Given the description of an element on the screen output the (x, y) to click on. 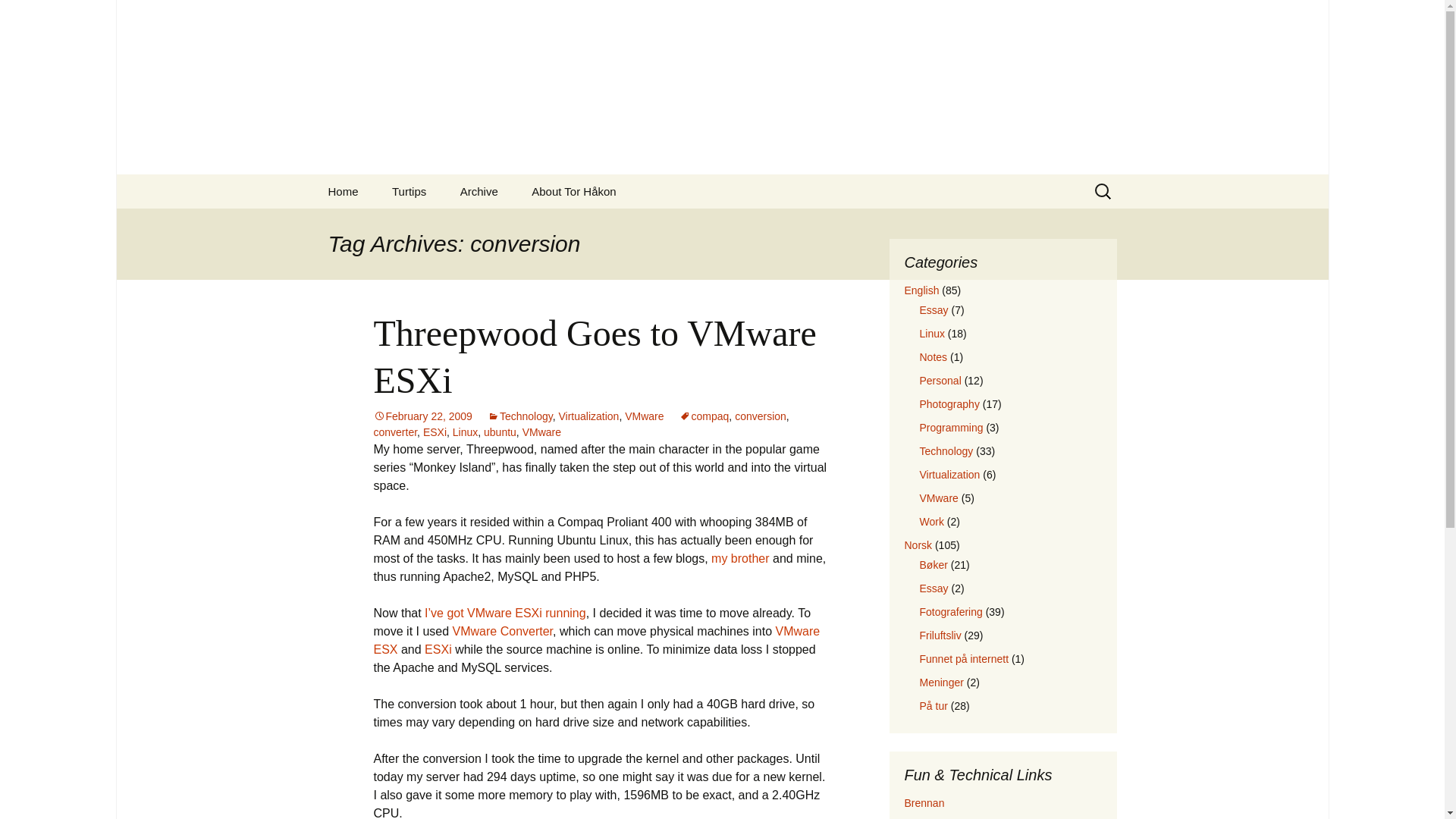
VMware (643, 416)
converter (394, 431)
Search (18, 15)
VMware (541, 431)
Technology (945, 451)
Programming (950, 427)
ESXi (434, 431)
Linux (930, 333)
Turtips (409, 191)
Home (342, 191)
